Given the description of an element on the screen output the (x, y) to click on. 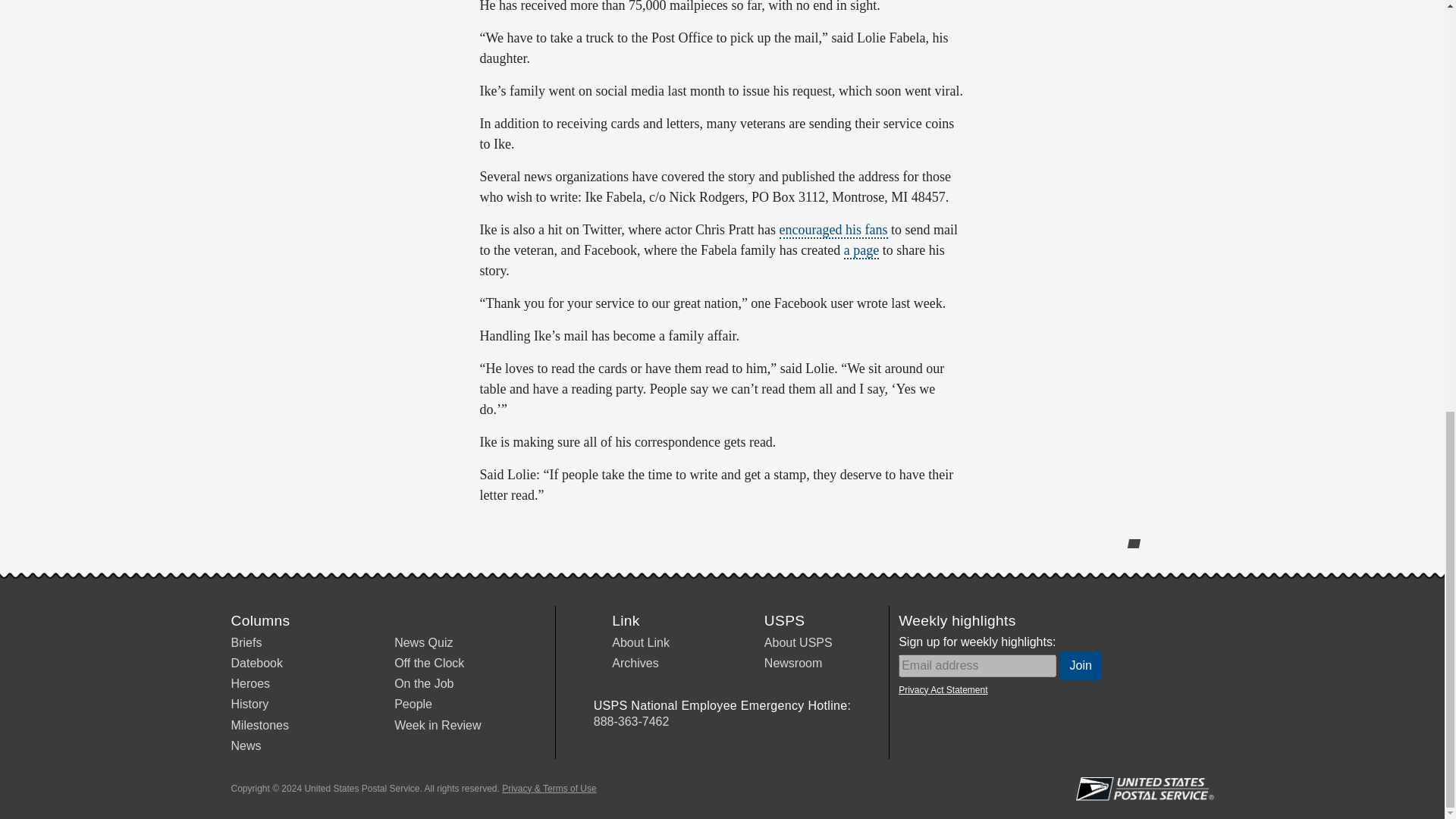
Briefs (246, 642)
Week in Review (437, 725)
Newsroom (793, 662)
Heroes (249, 683)
Milestones (259, 725)
About Link (640, 642)
History (248, 703)
News Quiz (423, 642)
Datebook (256, 662)
Join (1080, 665)
